Given the description of an element on the screen output the (x, y) to click on. 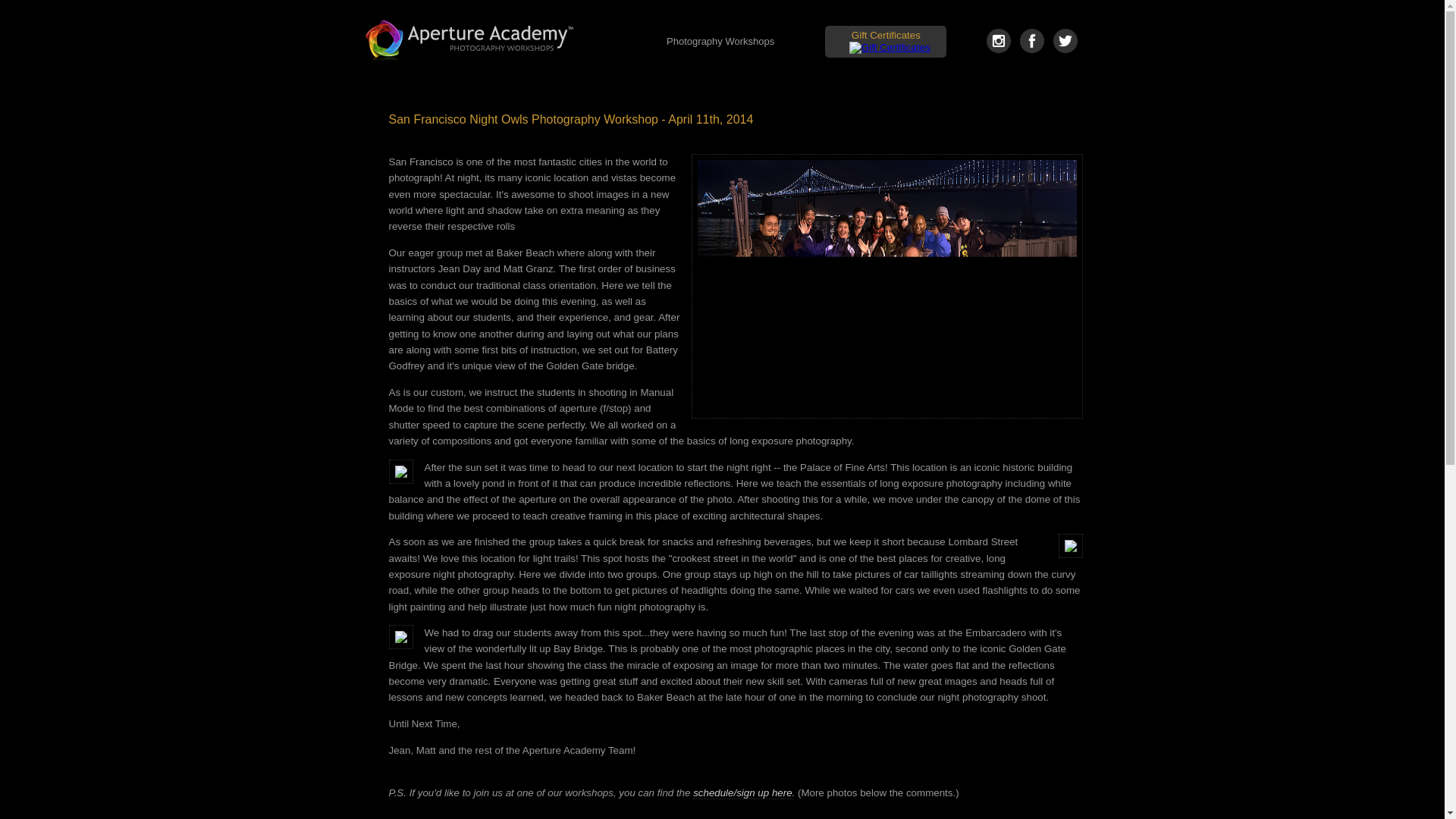
Photography Workshops (720, 41)
Gift Certificates (885, 34)
